Given the description of an element on the screen output the (x, y) to click on. 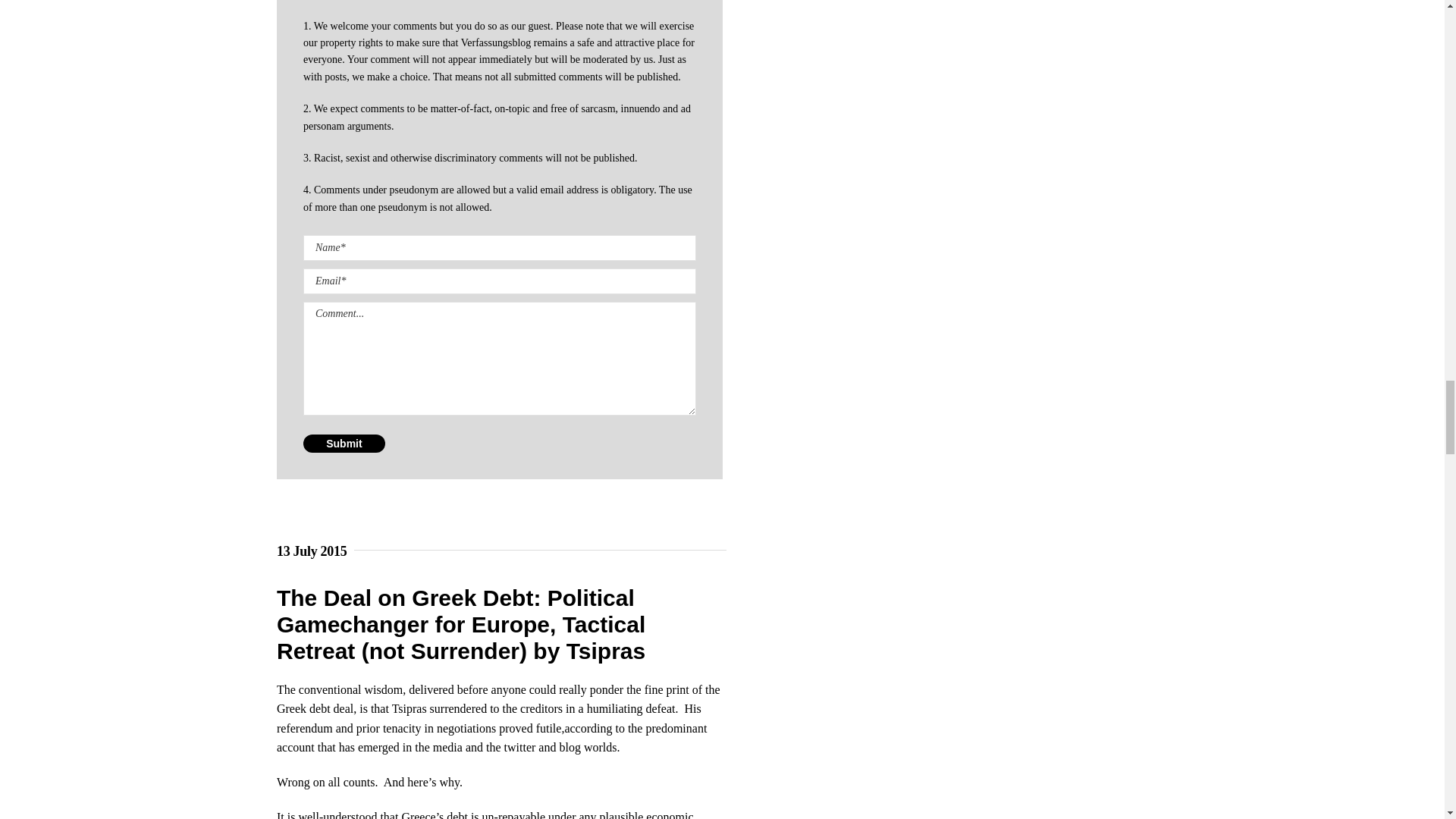
Submit (343, 443)
